Given the description of an element on the screen output the (x, y) to click on. 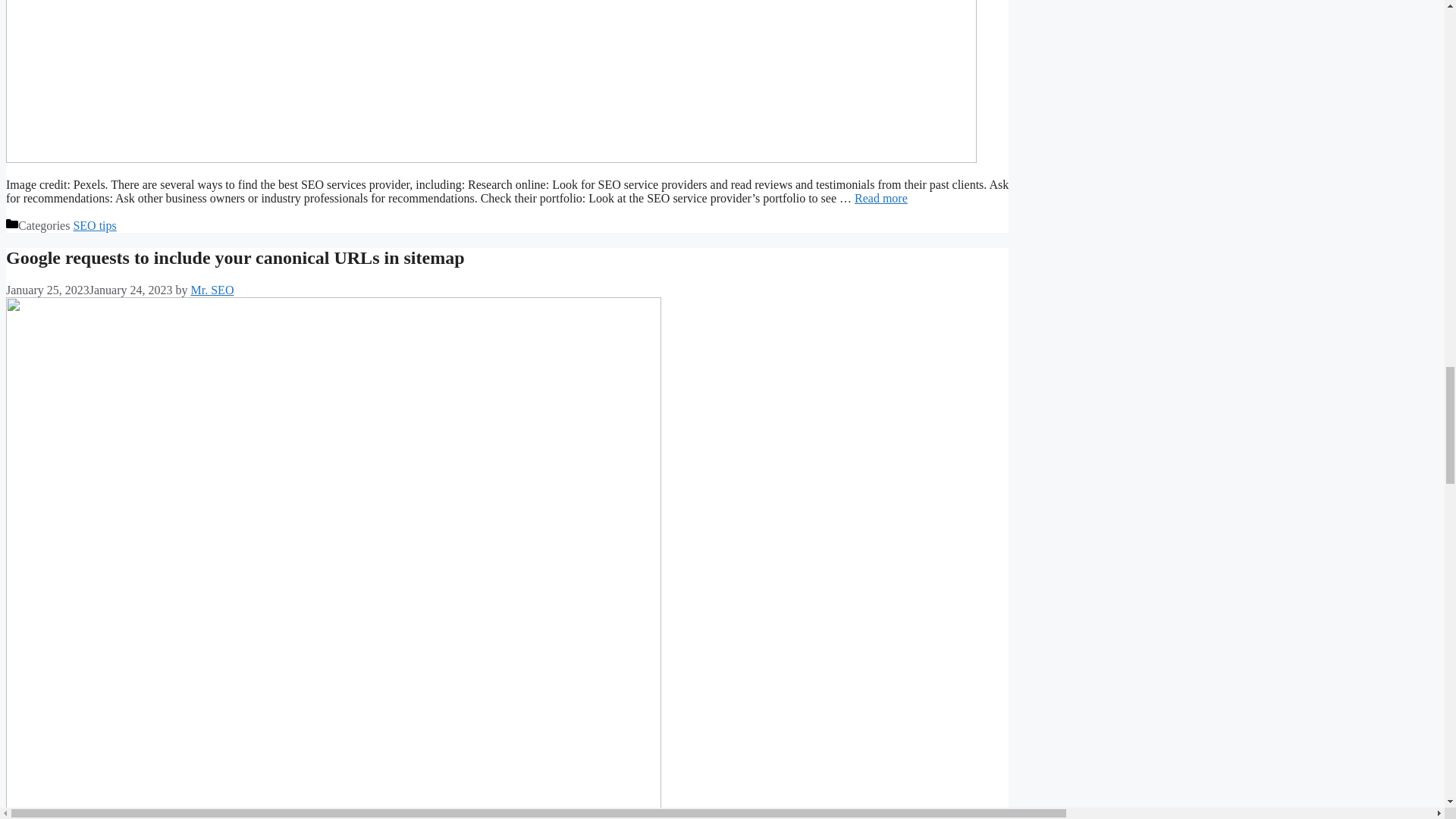
View all posts by Mr. SEO (212, 289)
Mr. SEO (212, 289)
Google requests to include your canonical URLs in sitemap (234, 257)
Read more (880, 197)
Looking for the best SEO services provider? (880, 197)
SEO tips (94, 225)
